Given the description of an element on the screen output the (x, y) to click on. 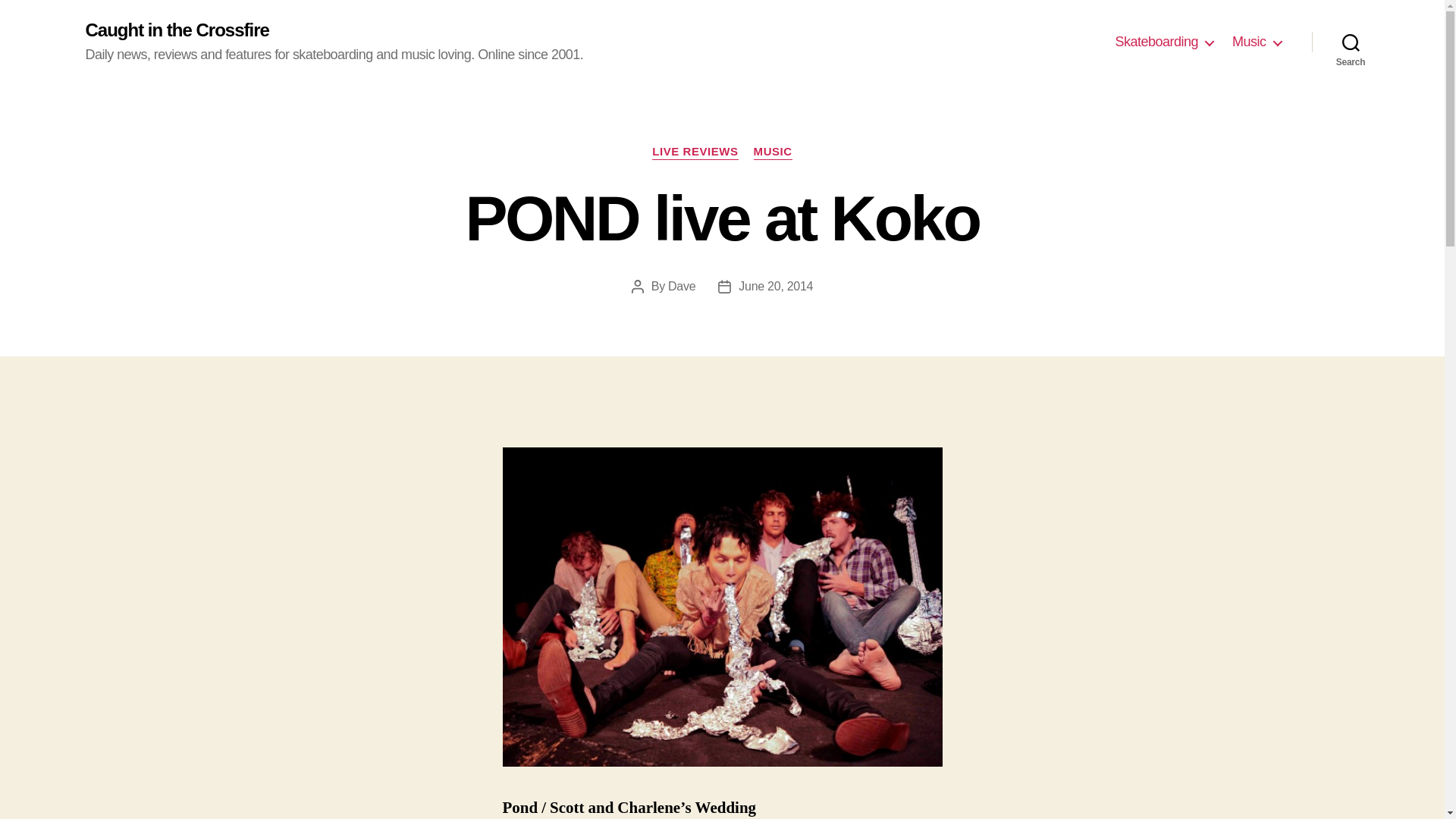
Search (1350, 41)
Skateboarding (1163, 42)
Music (1256, 42)
Caught in the Crossfire (175, 30)
